Given the description of an element on the screen output the (x, y) to click on. 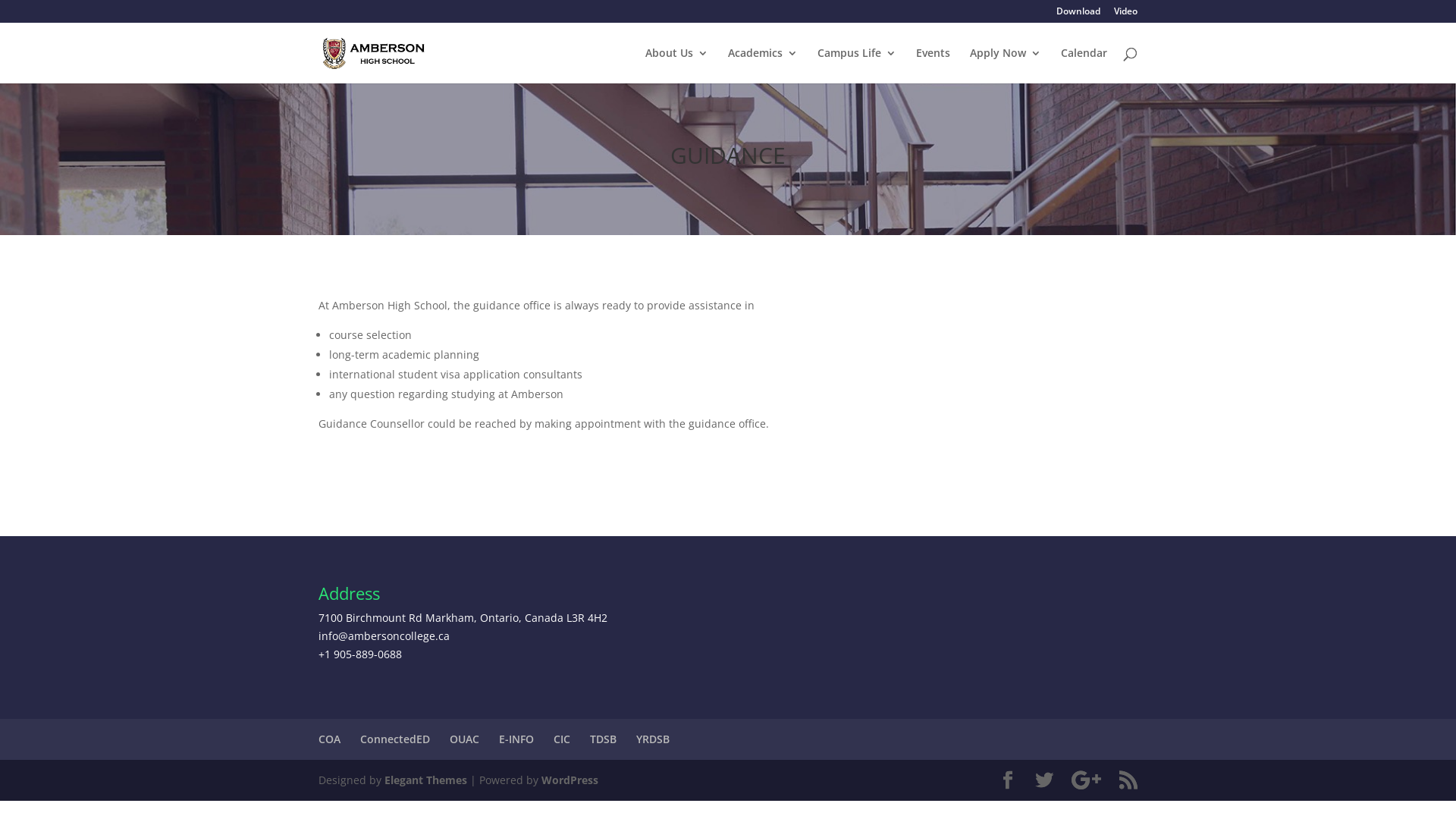
COA Element type: text (329, 738)
Events Element type: text (933, 65)
E-INFO Element type: text (515, 738)
ConnectedED Element type: text (394, 738)
TDSB Element type: text (602, 738)
Calendar Element type: text (1083, 65)
About Us Element type: text (676, 65)
CIC Element type: text (561, 738)
WordPress Element type: text (569, 779)
Campus Life Element type: text (856, 65)
Apply Now Element type: text (1005, 65)
OUAC Element type: text (464, 738)
Download Element type: text (1078, 14)
Academics Element type: text (762, 65)
Video Element type: text (1125, 14)
Elegant Themes Element type: text (425, 779)
YRDSB Element type: text (652, 738)
